Given the description of an element on the screen output the (x, y) to click on. 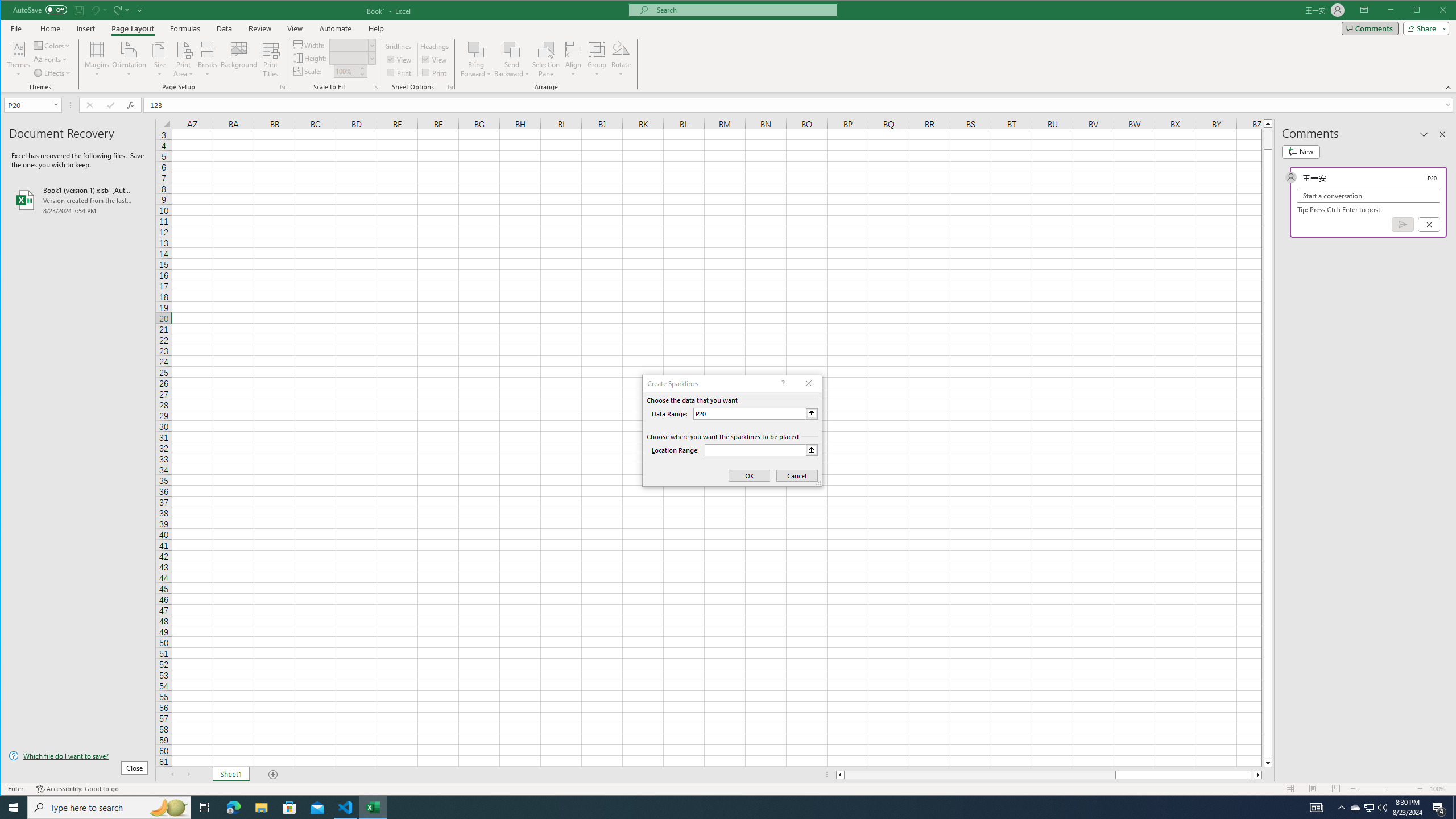
Print Area (183, 59)
Selection Pane... (546, 59)
Breaks (207, 59)
Size (159, 59)
Page up (1267, 138)
Page Setup (375, 86)
